Given the description of an element on the screen output the (x, y) to click on. 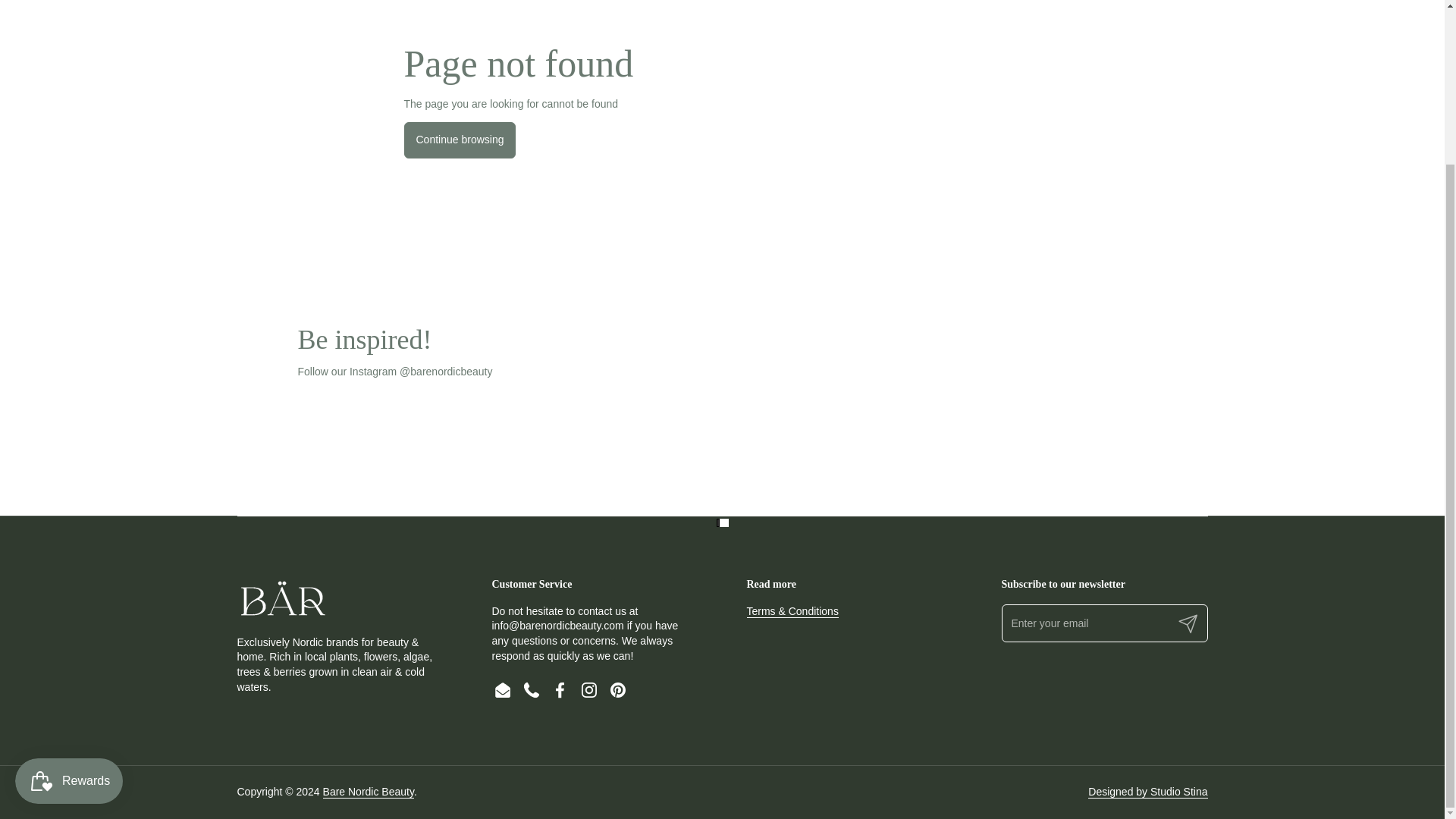
Smile.io Rewards Program Launcher (68, 585)
